Given the description of an element on the screen output the (x, y) to click on. 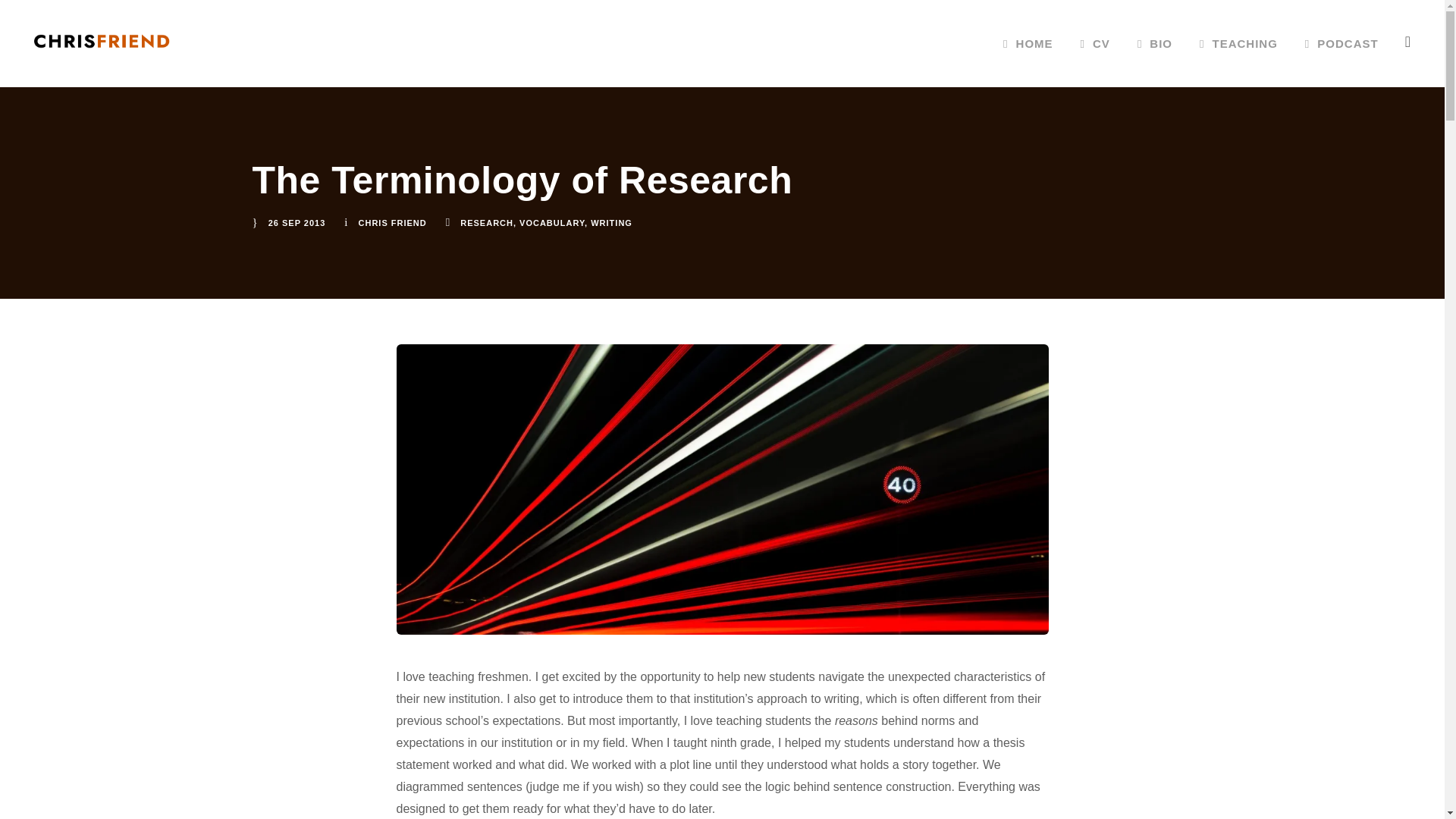
WRITING (611, 222)
name-logo-horiz-scheme (101, 41)
TEACHING (1238, 60)
RESEARCH (486, 222)
VOCABULARY (552, 222)
26 SEP 2013 (296, 222)
PODCAST (1341, 60)
BIO (1154, 60)
CHRIS FRIEND (392, 222)
HOME (1027, 60)
CV (1094, 60)
Posts by Chris Friend (392, 222)
